Given the description of an element on the screen output the (x, y) to click on. 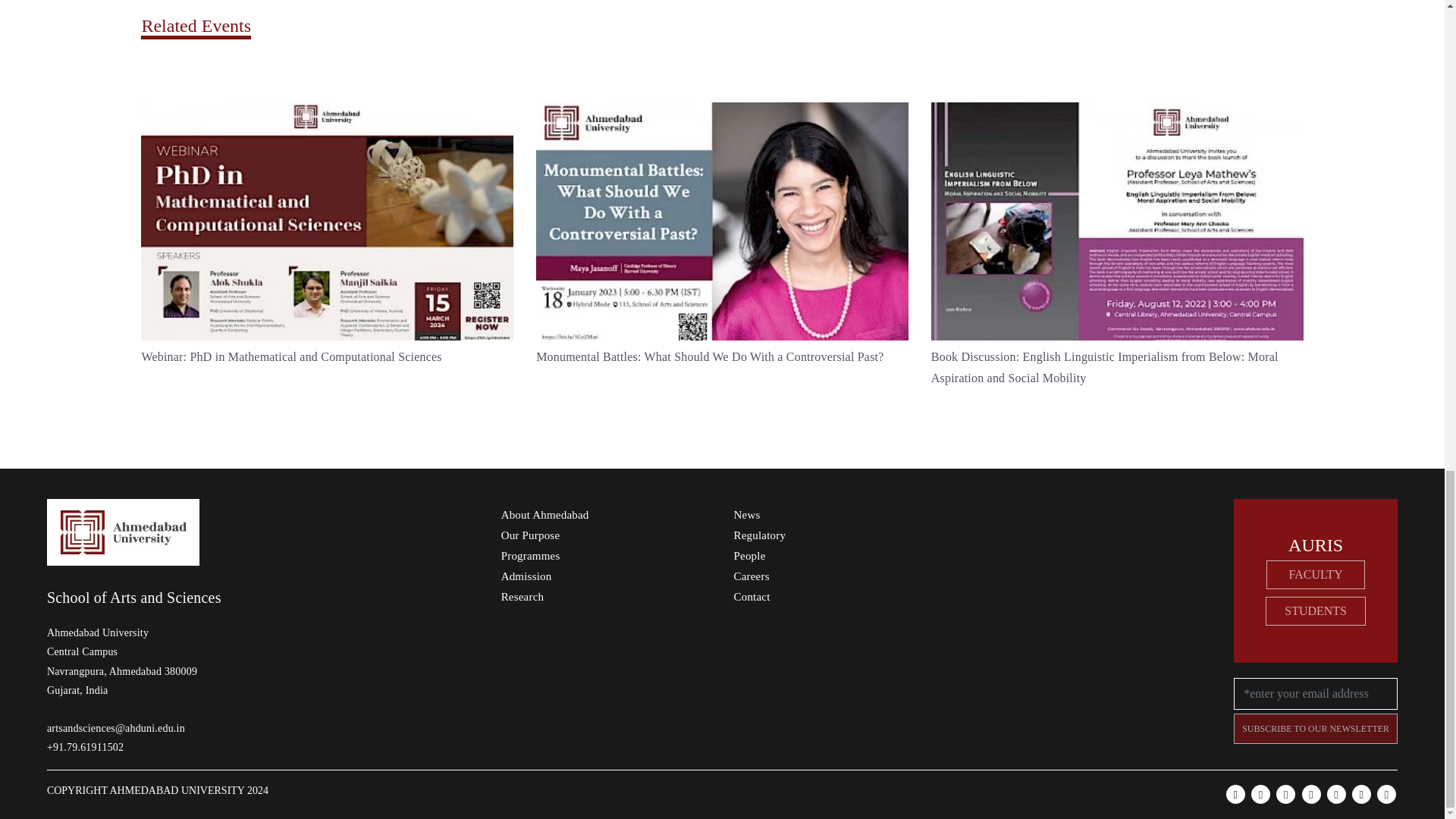
Twitter (1285, 793)
Facebook (1234, 793)
Google (1386, 793)
Instagram (1310, 793)
YouTube (1259, 793)
LinkedIN (1335, 793)
Threads (1361, 793)
